Given the description of an element on the screen output the (x, y) to click on. 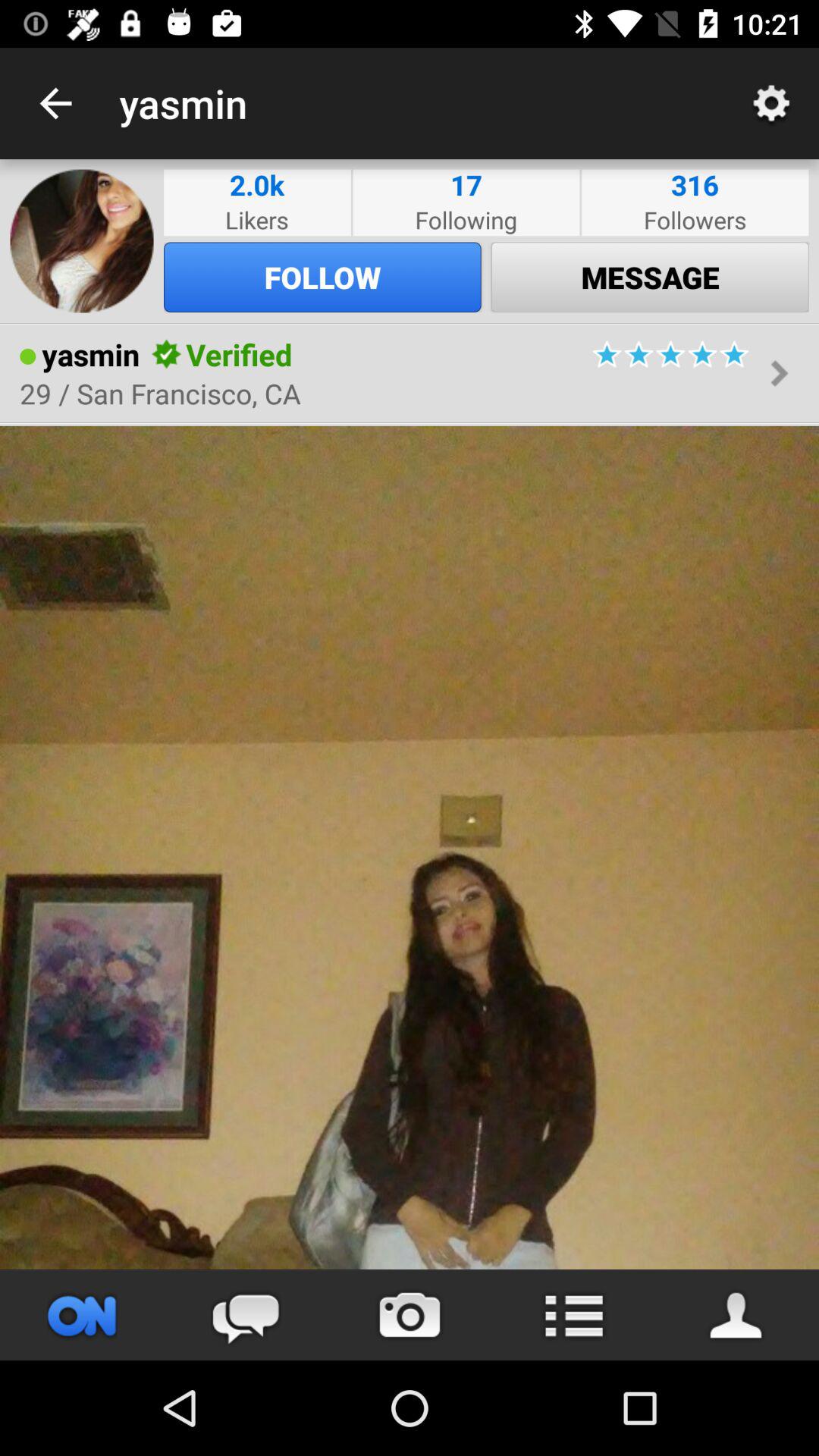
flip to the follow item (322, 277)
